Given the description of an element on the screen output the (x, y) to click on. 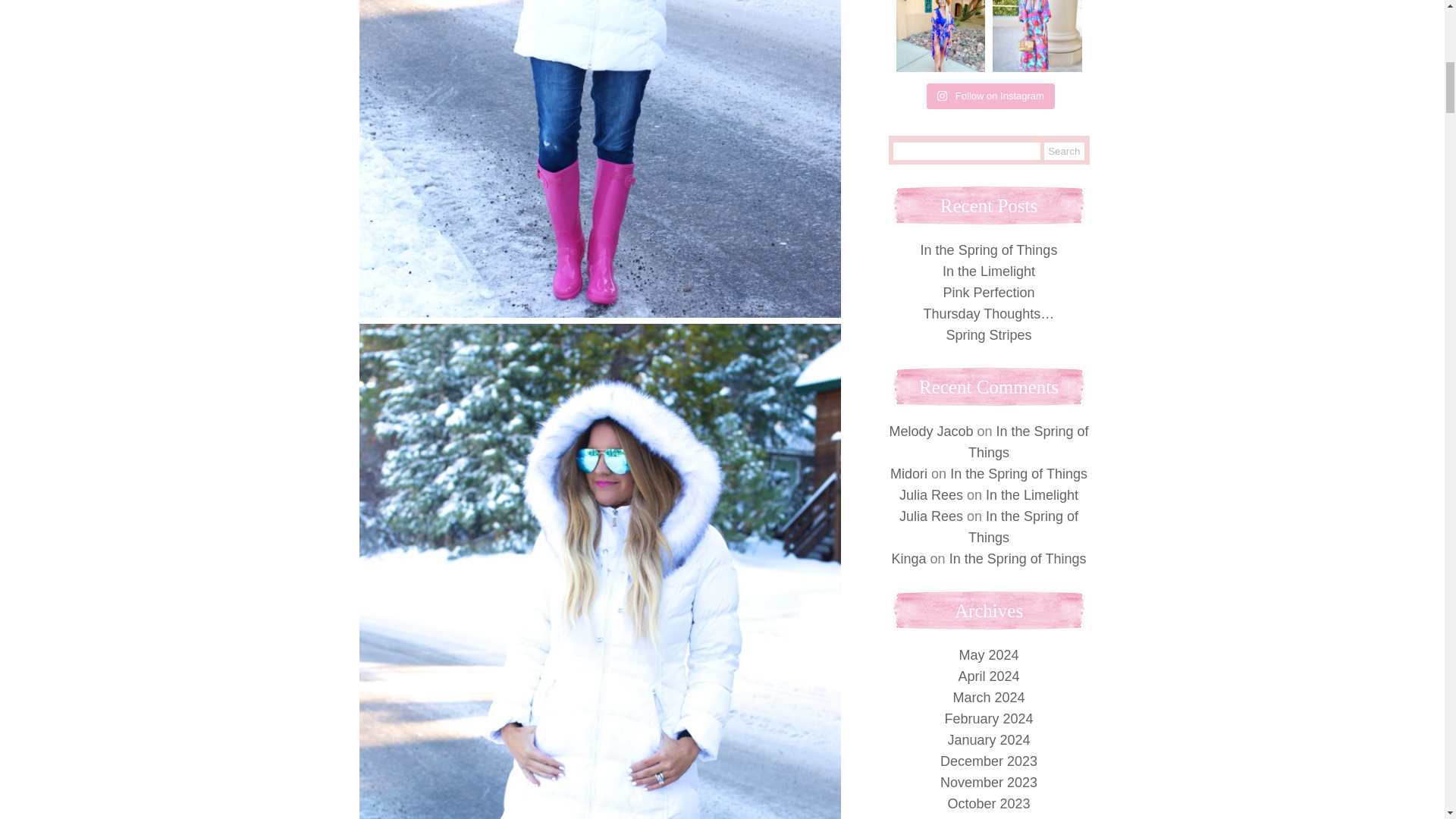
Julia Rees (930, 494)
Follow on Instagram (990, 95)
November 2023 (988, 782)
May 2024 (987, 654)
September 2023 (988, 818)
April 2024 (988, 676)
Pink Perfection (987, 292)
Melody Jacob (930, 430)
In the Limelight (1031, 494)
Search (1063, 150)
Julia Rees (930, 515)
Midori (908, 473)
February 2024 (987, 718)
In the Spring of Things (1018, 473)
March 2024 (988, 697)
